Given the description of an element on the screen output the (x, y) to click on. 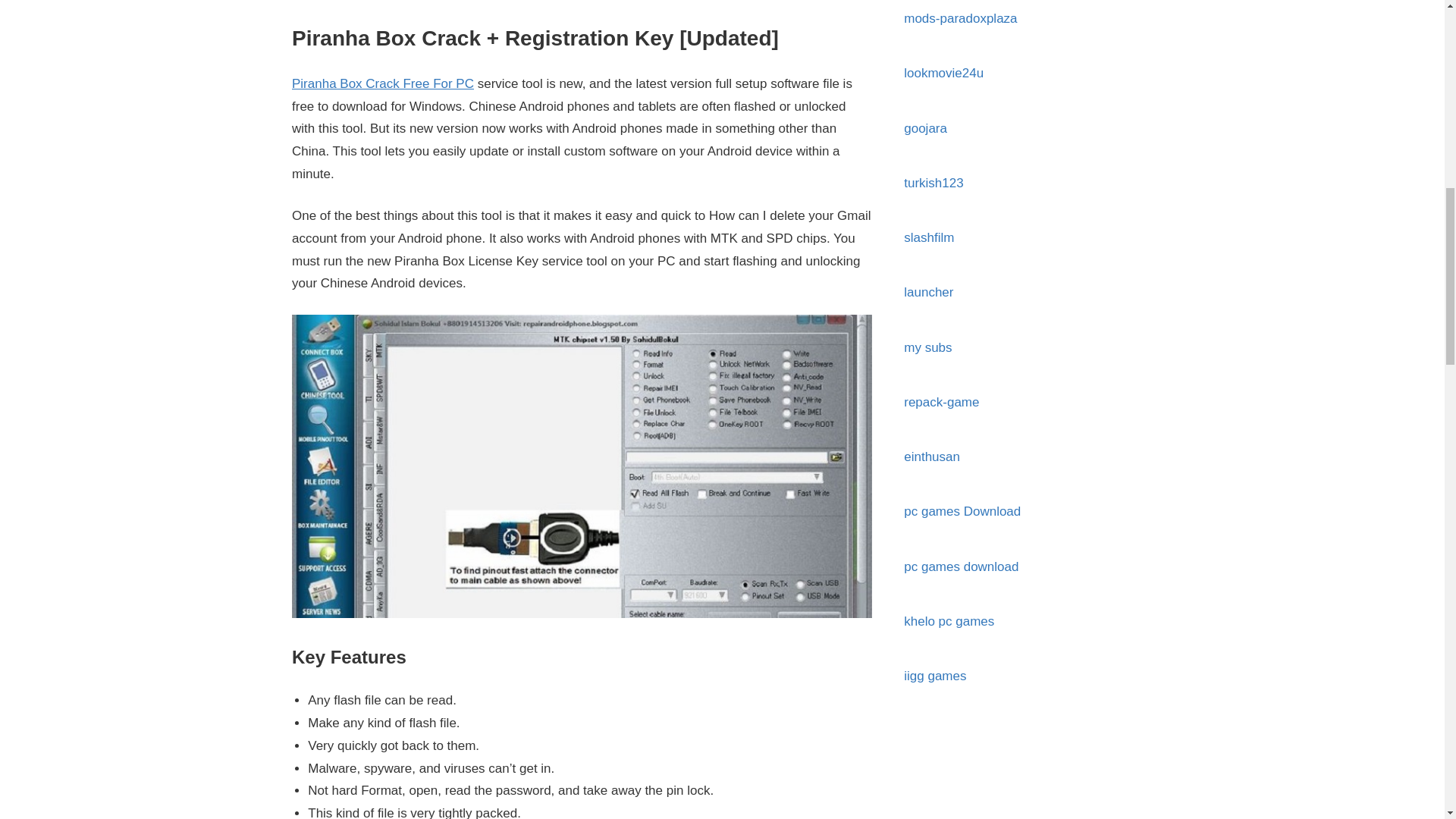
iigg games (935, 676)
turkish123 (933, 183)
repack-game (941, 401)
slashfilm (928, 237)
goojara (925, 128)
my subs (928, 347)
lookmovie24u (944, 73)
khelo pc games (949, 621)
pc games download (960, 566)
launcher (928, 292)
mods-paradoxplaza (960, 18)
einthusan (931, 456)
Piranha Box Crack Free For PC (383, 83)
pc games Download (962, 511)
